Given the description of an element on the screen output the (x, y) to click on. 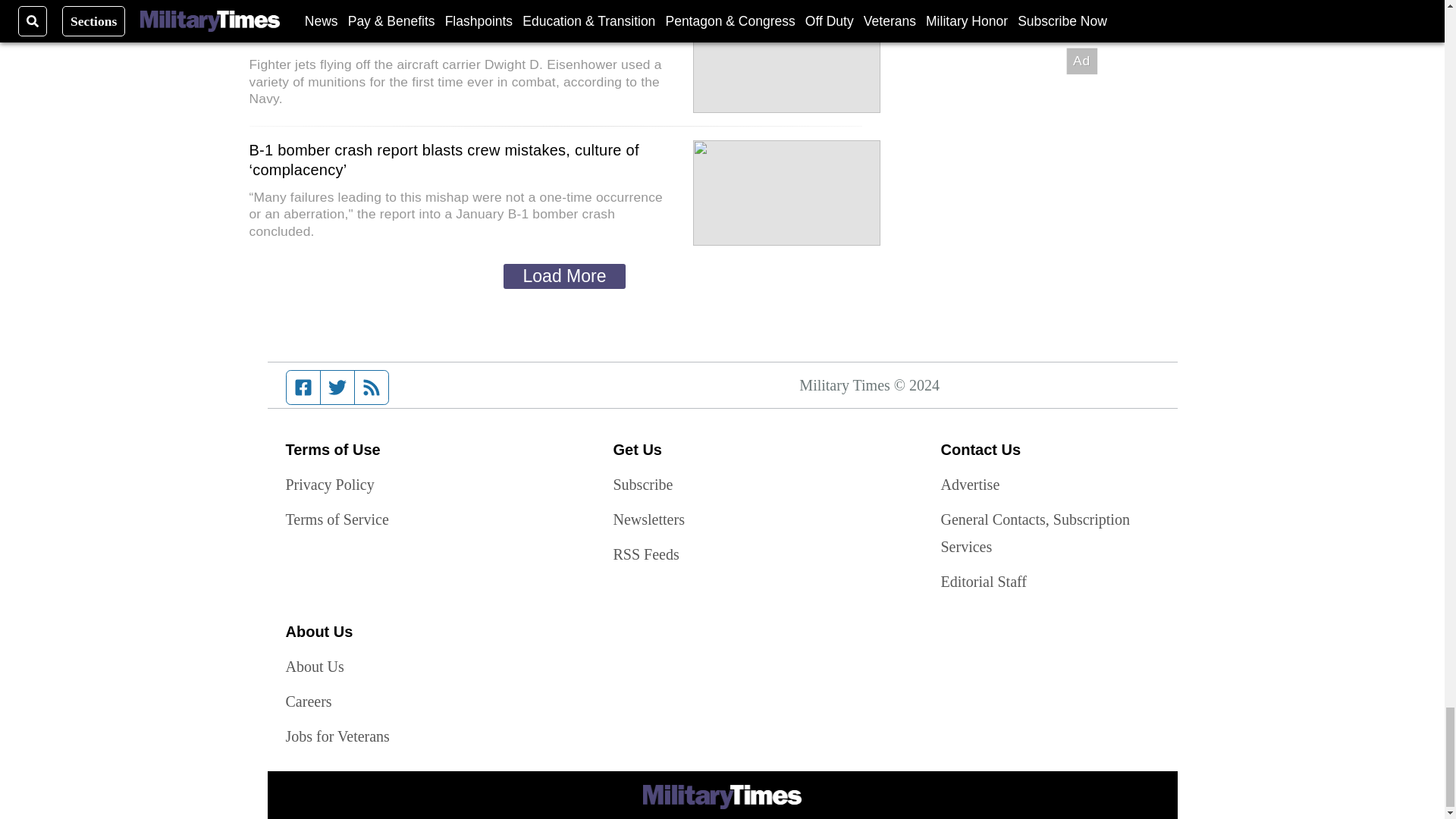
Facebook page (303, 387)
Twitter feed (336, 387)
RSS feed (371, 387)
